Given the description of an element on the screen output the (x, y) to click on. 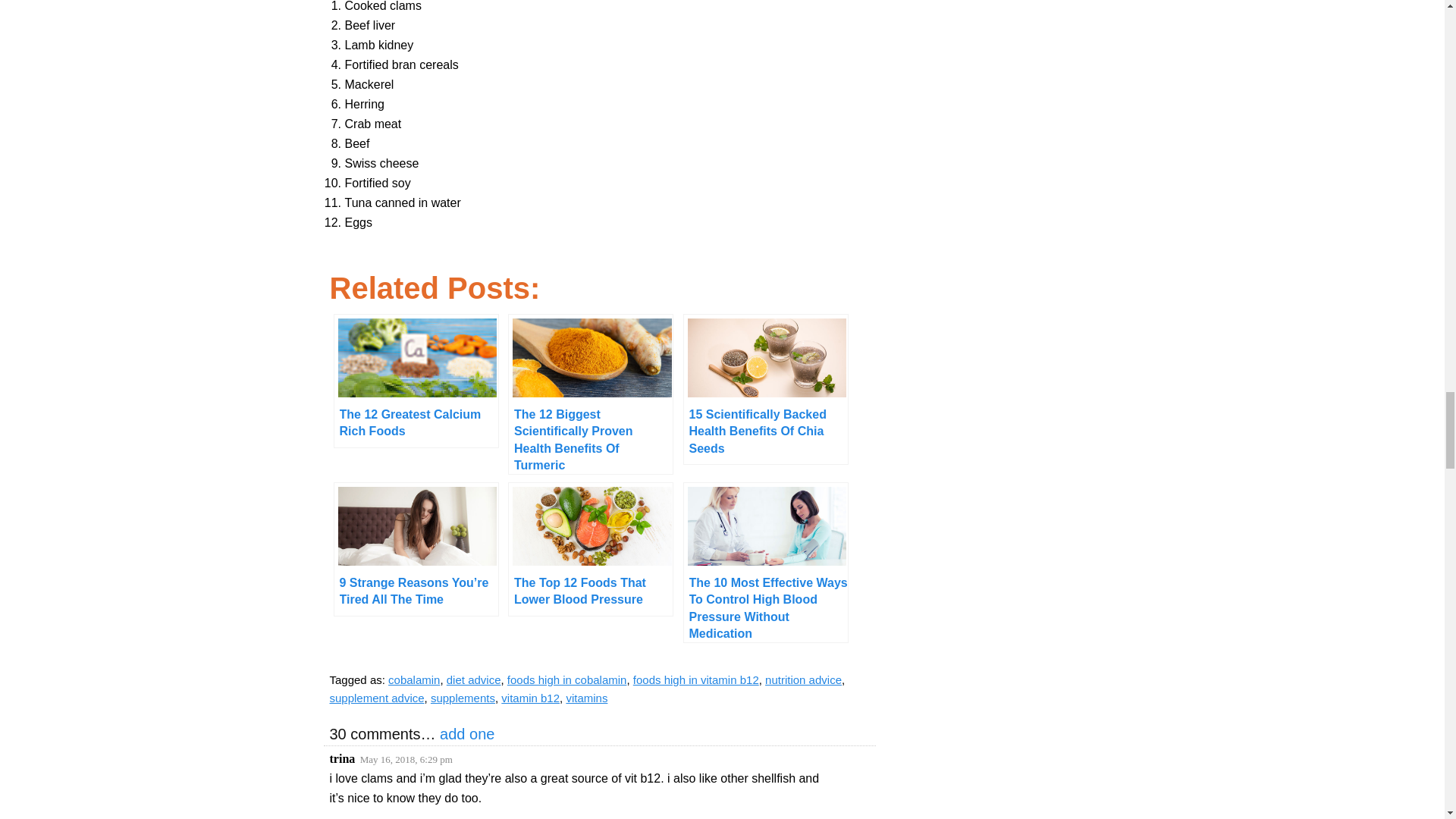
cobalamin (413, 679)
foods high in vitamin b12 (695, 679)
The 12 Greatest Calcium Rich Foods (416, 380)
15 Scientifically Backed Health Benefits Of Chia Seeds (764, 389)
supplements (462, 697)
vitamins (586, 697)
add one (467, 733)
The Top 12 Foods That Lower Blood Pressure (590, 549)
supplement advice (376, 697)
